Given the description of an element on the screen output the (x, y) to click on. 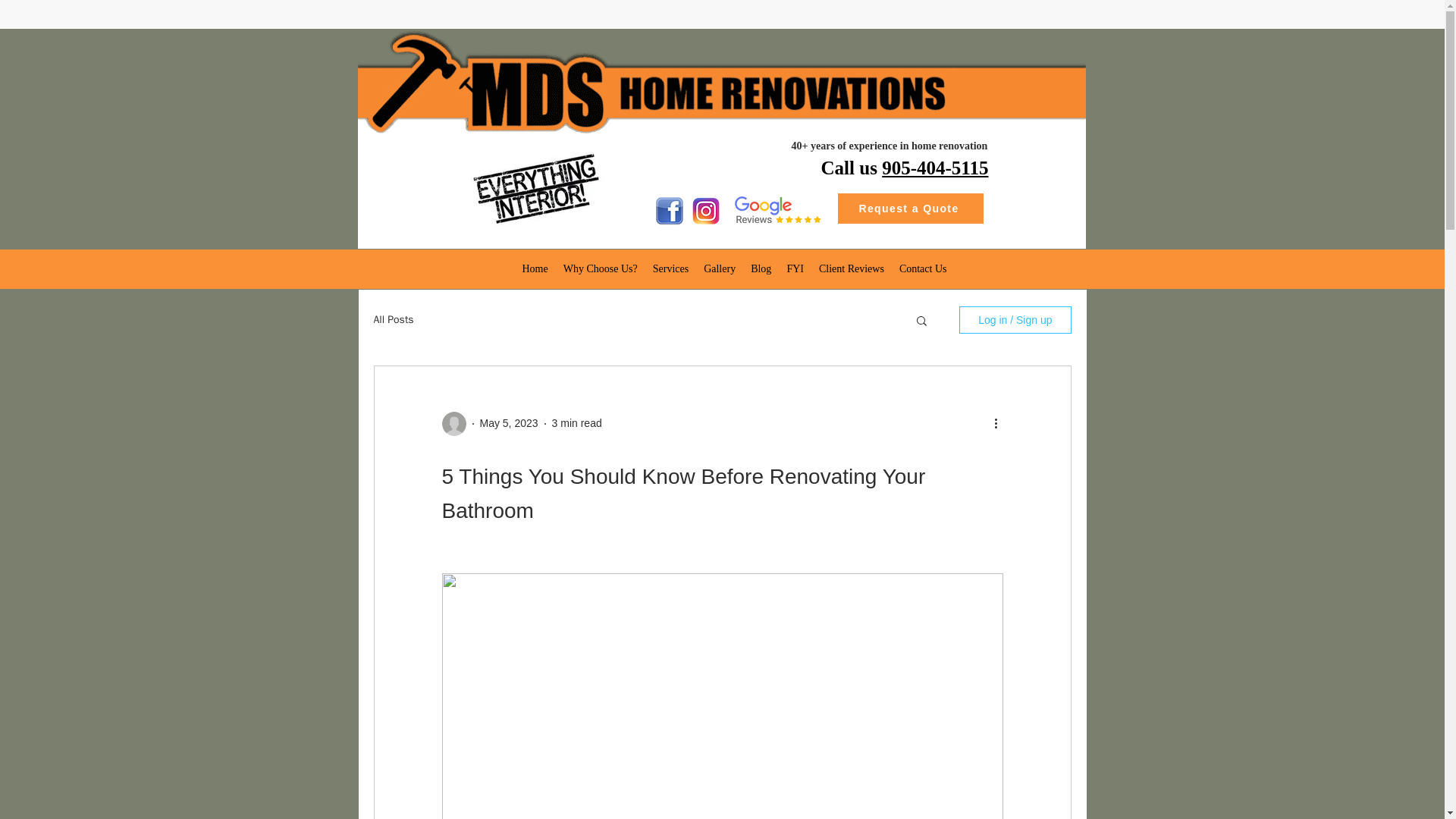
Client Reviews (850, 268)
May 5, 2023 (508, 422)
Contact Us (923, 268)
Blog (760, 268)
All Posts (392, 319)
Gallery (718, 268)
Home (533, 268)
3 min read (576, 422)
Request a Quote (909, 208)
FYI (794, 268)
Why Choose Us? (600, 268)
905-404-5115 (935, 168)
Services (670, 268)
google review (777, 209)
